Given the description of an element on the screen output the (x, y) to click on. 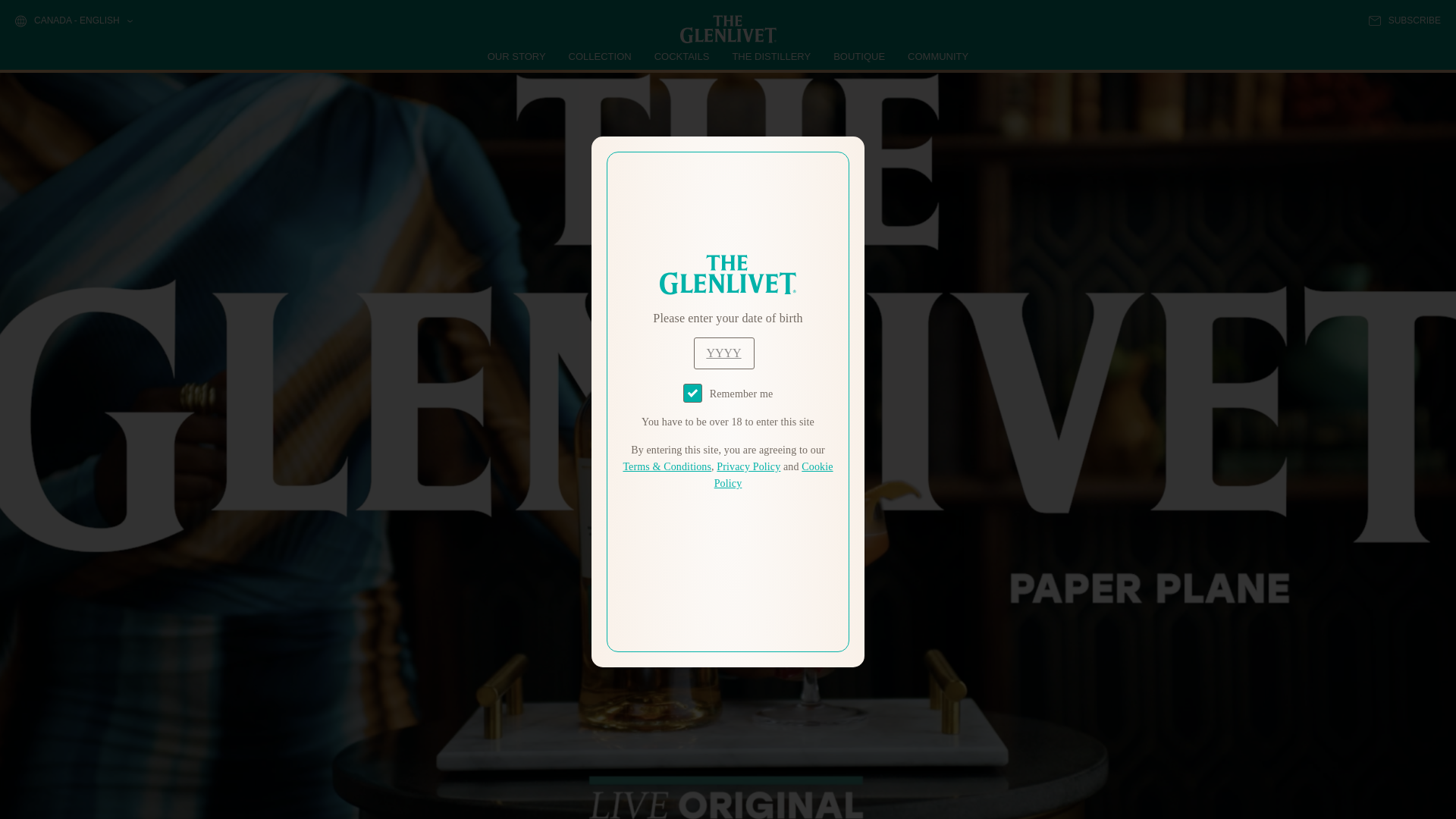
Cookie Policy (773, 474)
COCKTAILS (681, 56)
year (723, 353)
OUR STORY (516, 56)
SUBSCRIBE (1404, 20)
COMMUNITY (937, 56)
CANADA - ENGLISH (73, 21)
Privacy Policy (748, 466)
THE DISTILLERY (771, 56)
COLLECTION (600, 56)
BOUTIQUE (858, 56)
